Given the description of an element on the screen output the (x, y) to click on. 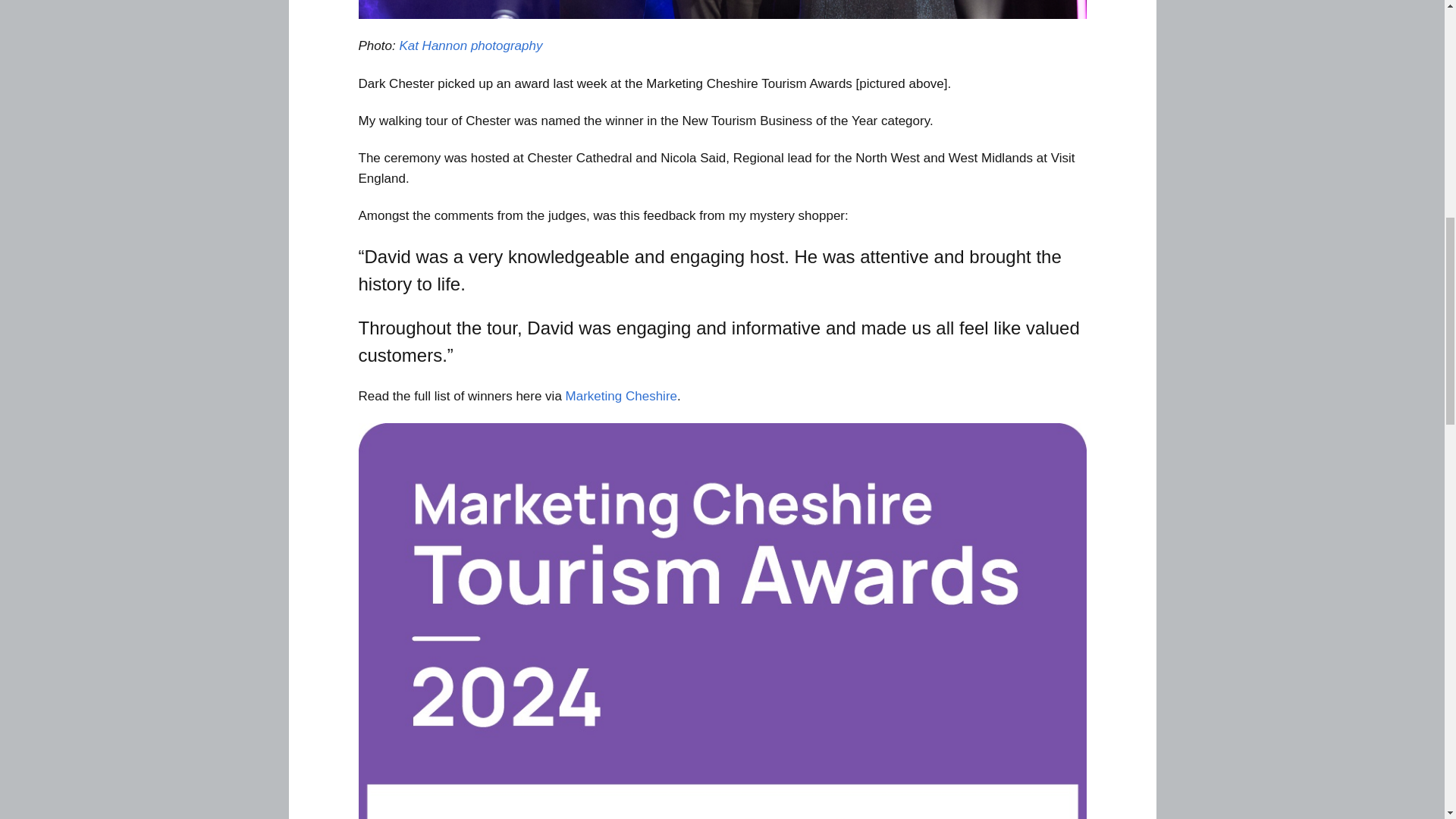
Marketing Cheshire (621, 396)
Page 12 (722, 306)
Kat Hannon photography  (472, 45)
